Given the description of an element on the screen output the (x, y) to click on. 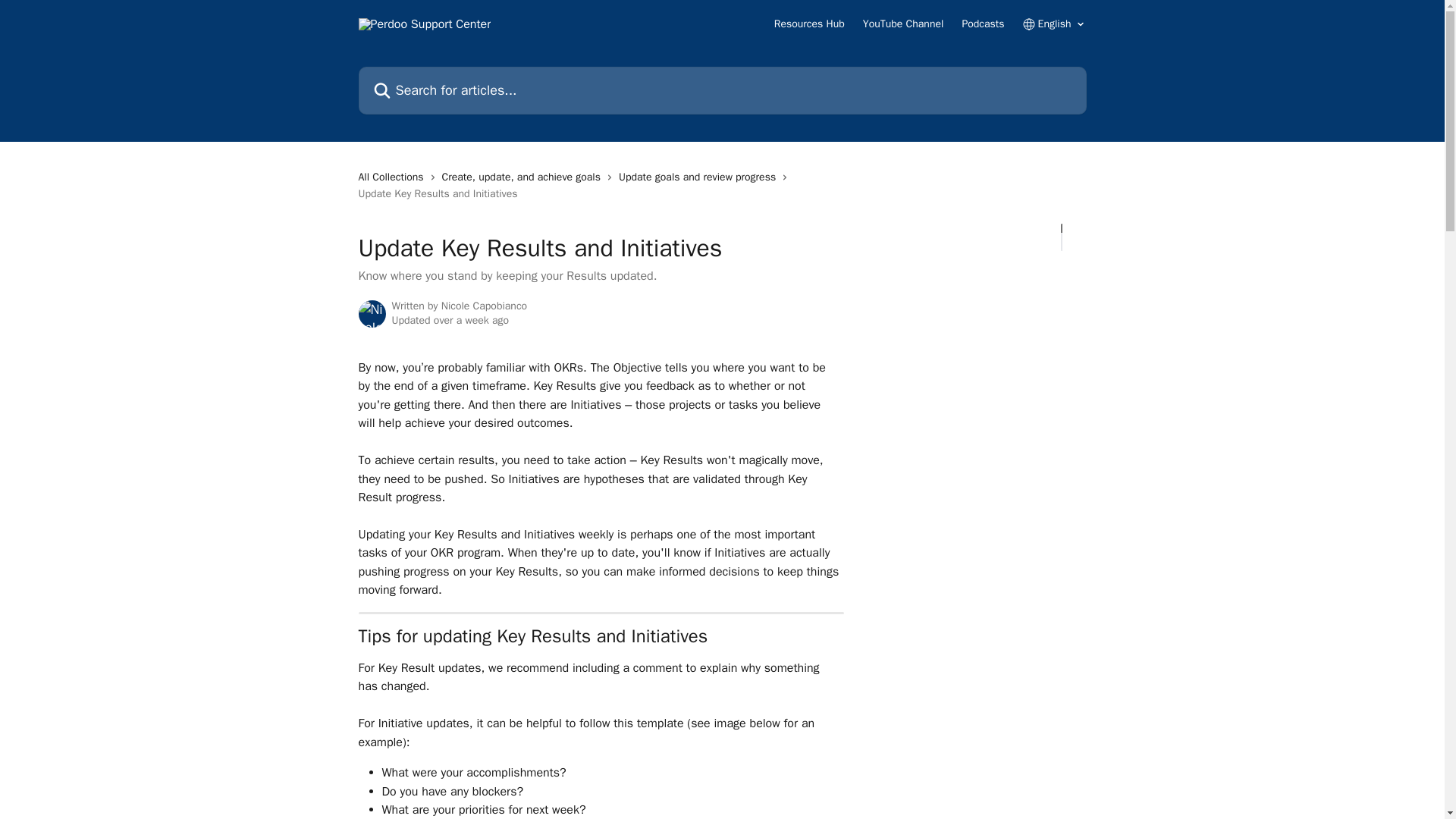
Resources Hub (809, 23)
Create, update, and achieve goals (524, 176)
YouTube Channel (903, 23)
Update goals and review progress (699, 176)
All Collections (393, 176)
Podcasts (982, 23)
